Given the description of an element on the screen output the (x, y) to click on. 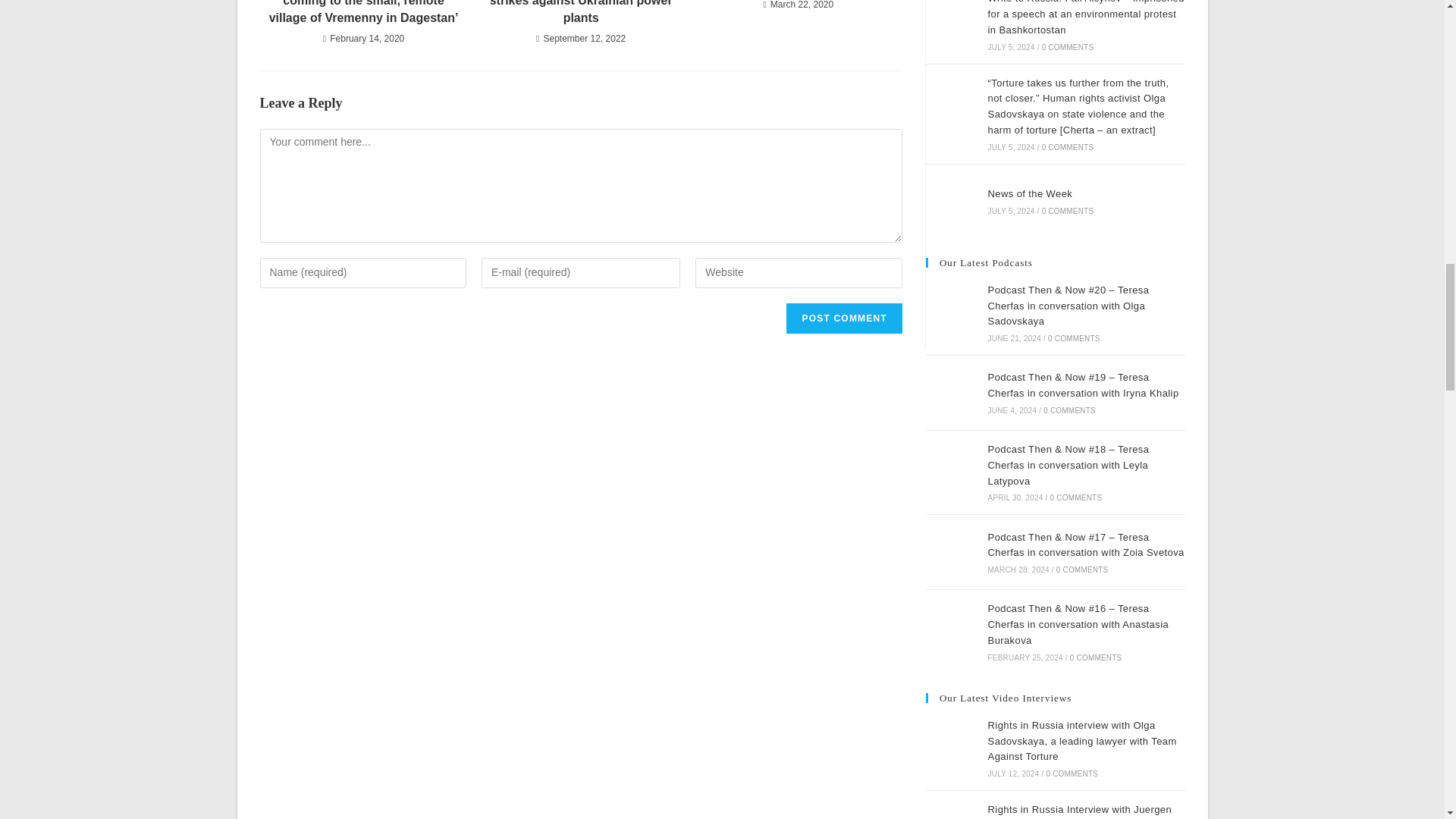
Post Comment (843, 318)
